Given the description of an element on the screen output the (x, y) to click on. 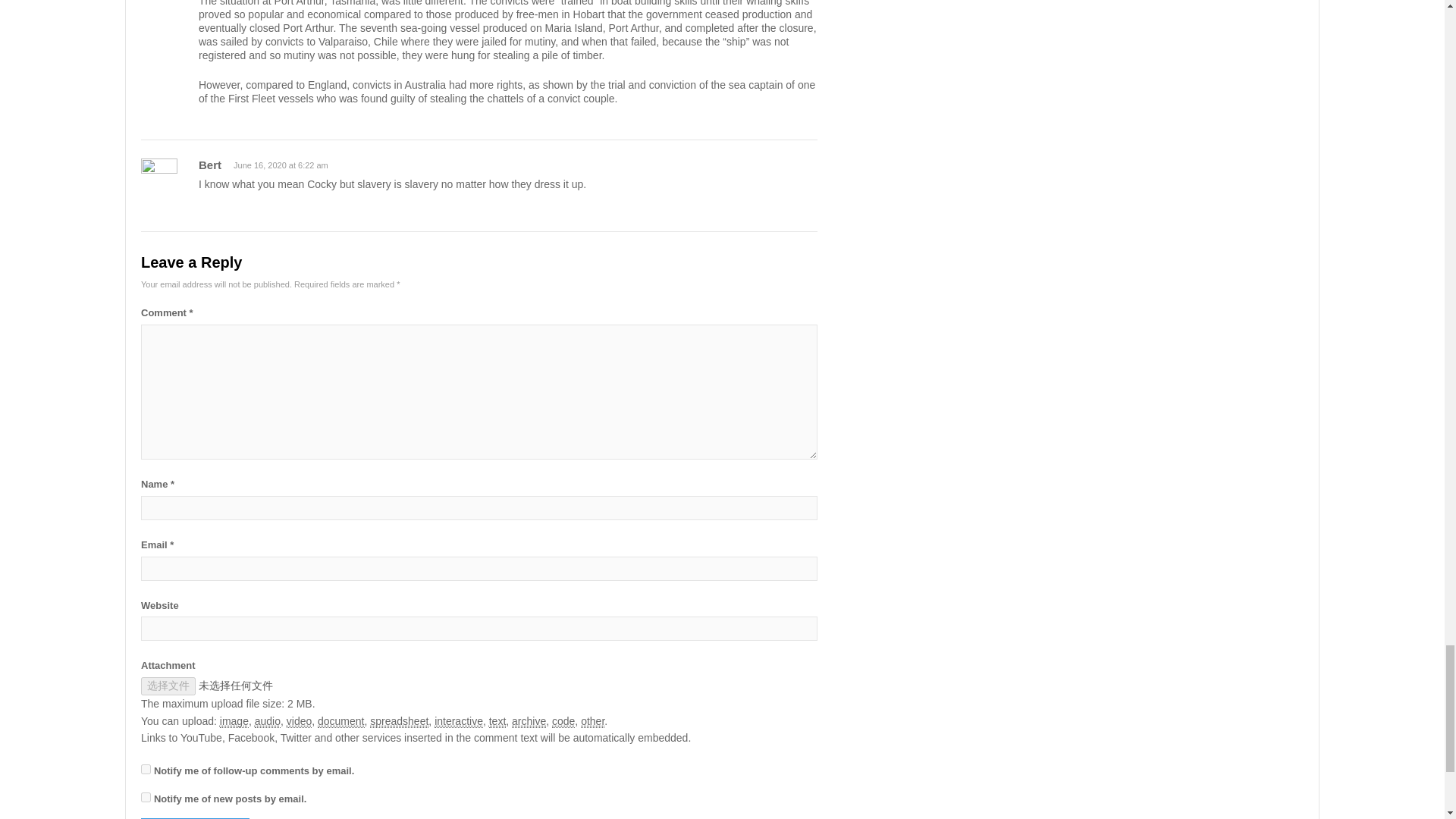
subscribe (146, 797)
subscribe (146, 768)
